Given the description of an element on the screen output the (x, y) to click on. 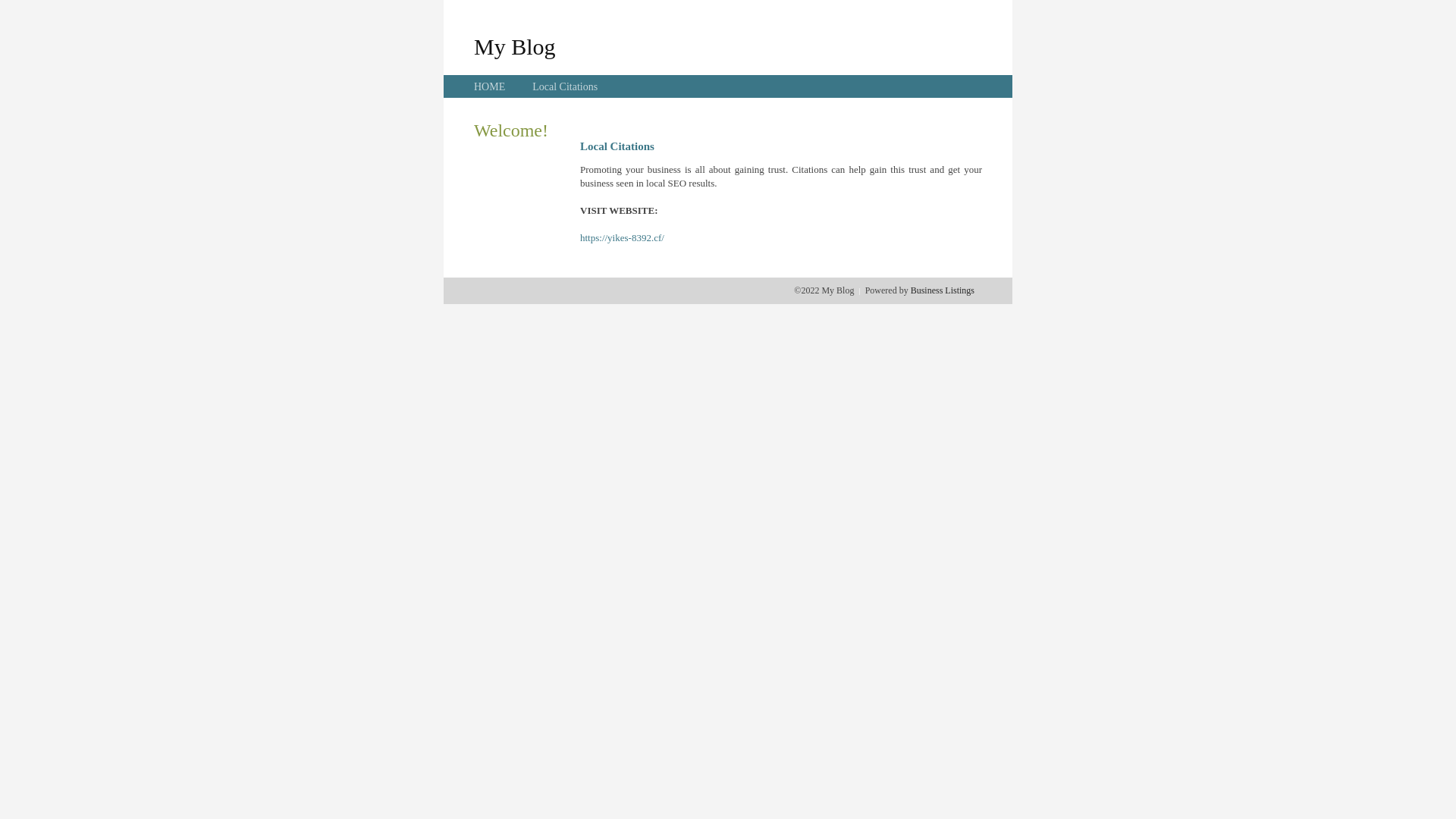
HOME Element type: text (489, 86)
My Blog Element type: text (514, 46)
https://yikes-8392.cf/ Element type: text (622, 237)
Business Listings Element type: text (942, 290)
Local Citations Element type: text (564, 86)
